Given the description of an element on the screen output the (x, y) to click on. 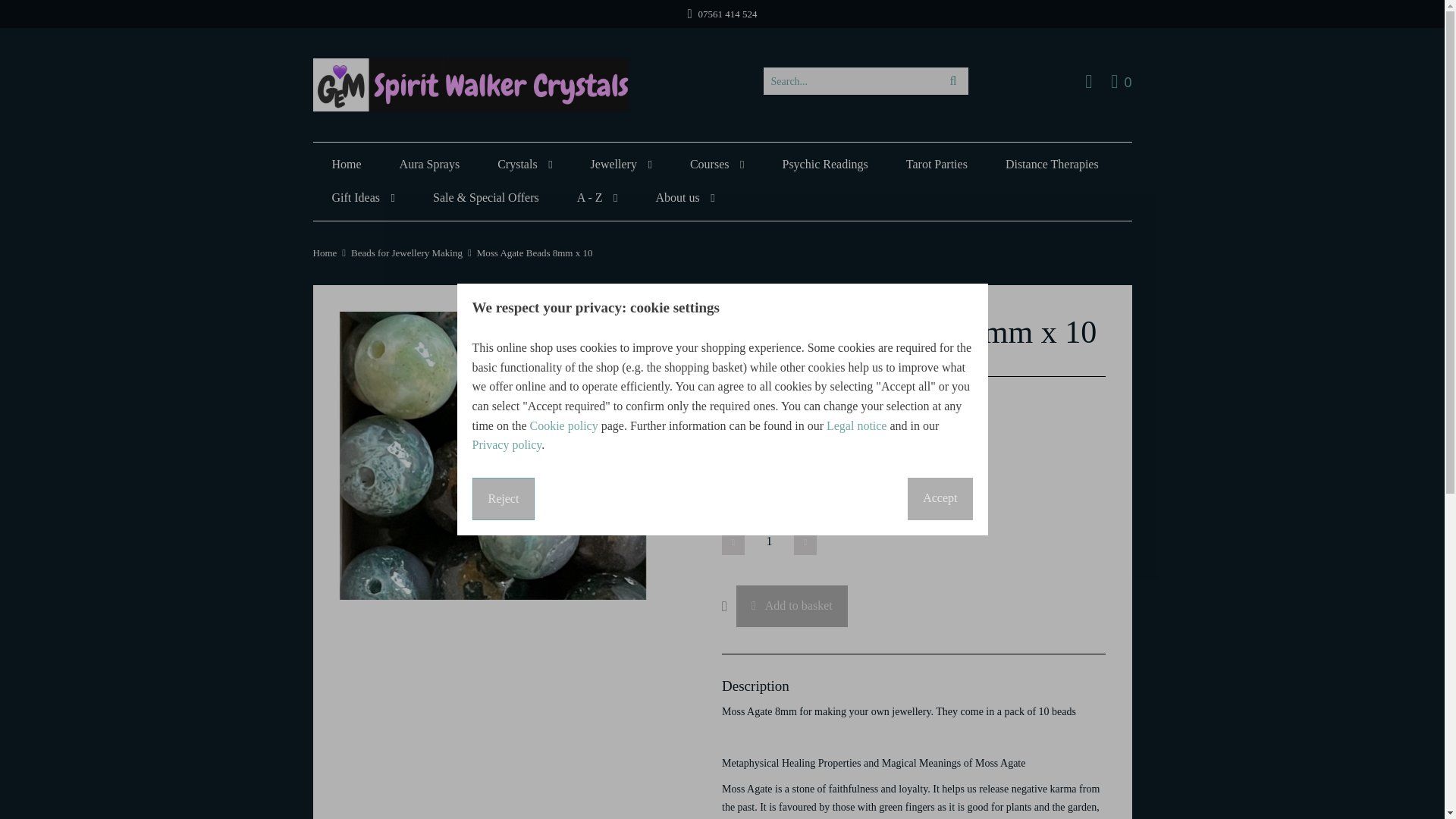
1 (768, 541)
Courses (716, 164)
Spirit Walker Crystals (1120, 80)
Add to wish list (470, 84)
Crystals (729, 605)
Home (524, 164)
Aura Sprays (346, 164)
Search (429, 164)
Jewellery (952, 81)
